Given the description of an element on the screen output the (x, y) to click on. 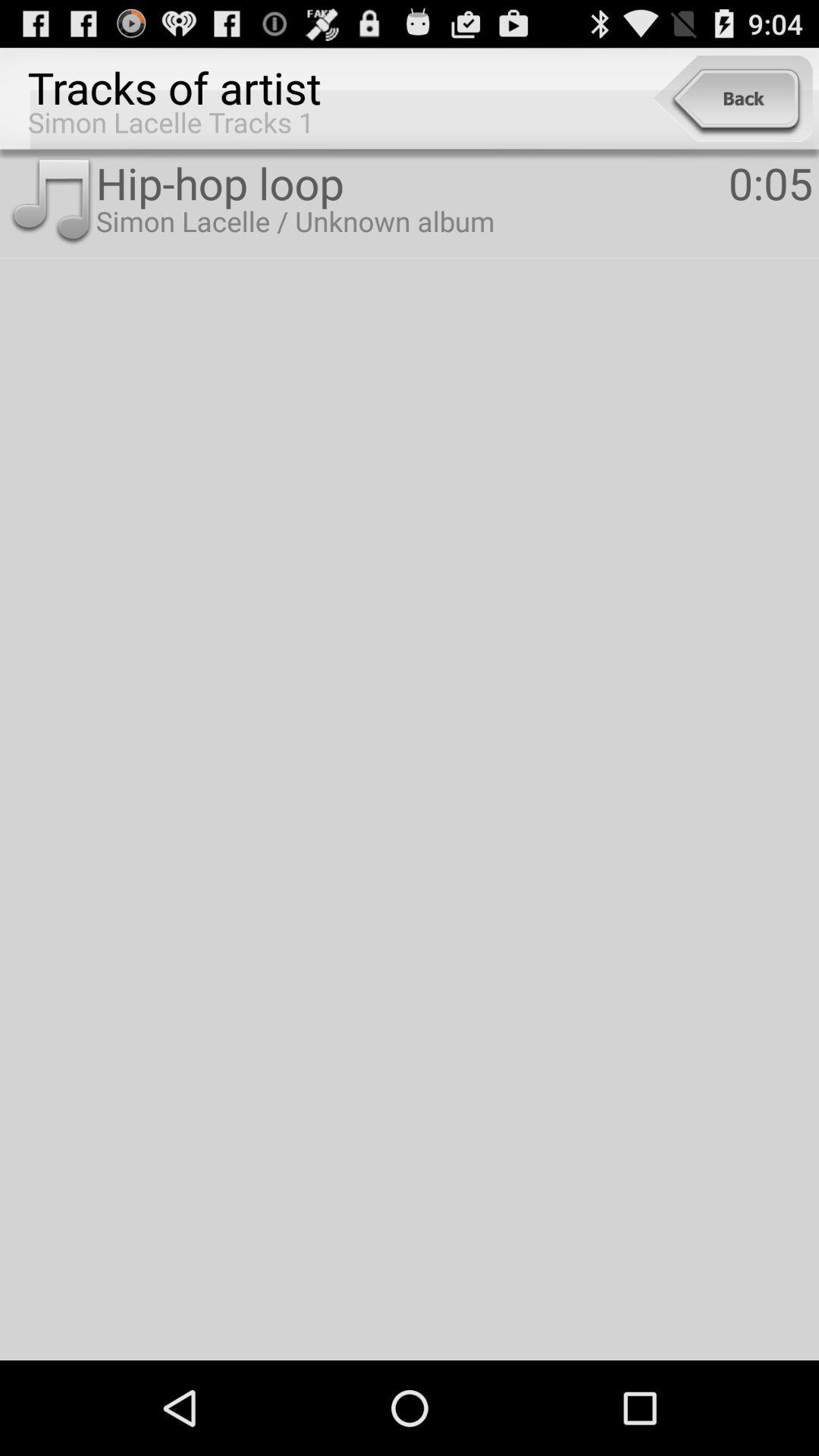
open app to the right of the hip-hop loop icon (770, 182)
